Given the description of an element on the screen output the (x, y) to click on. 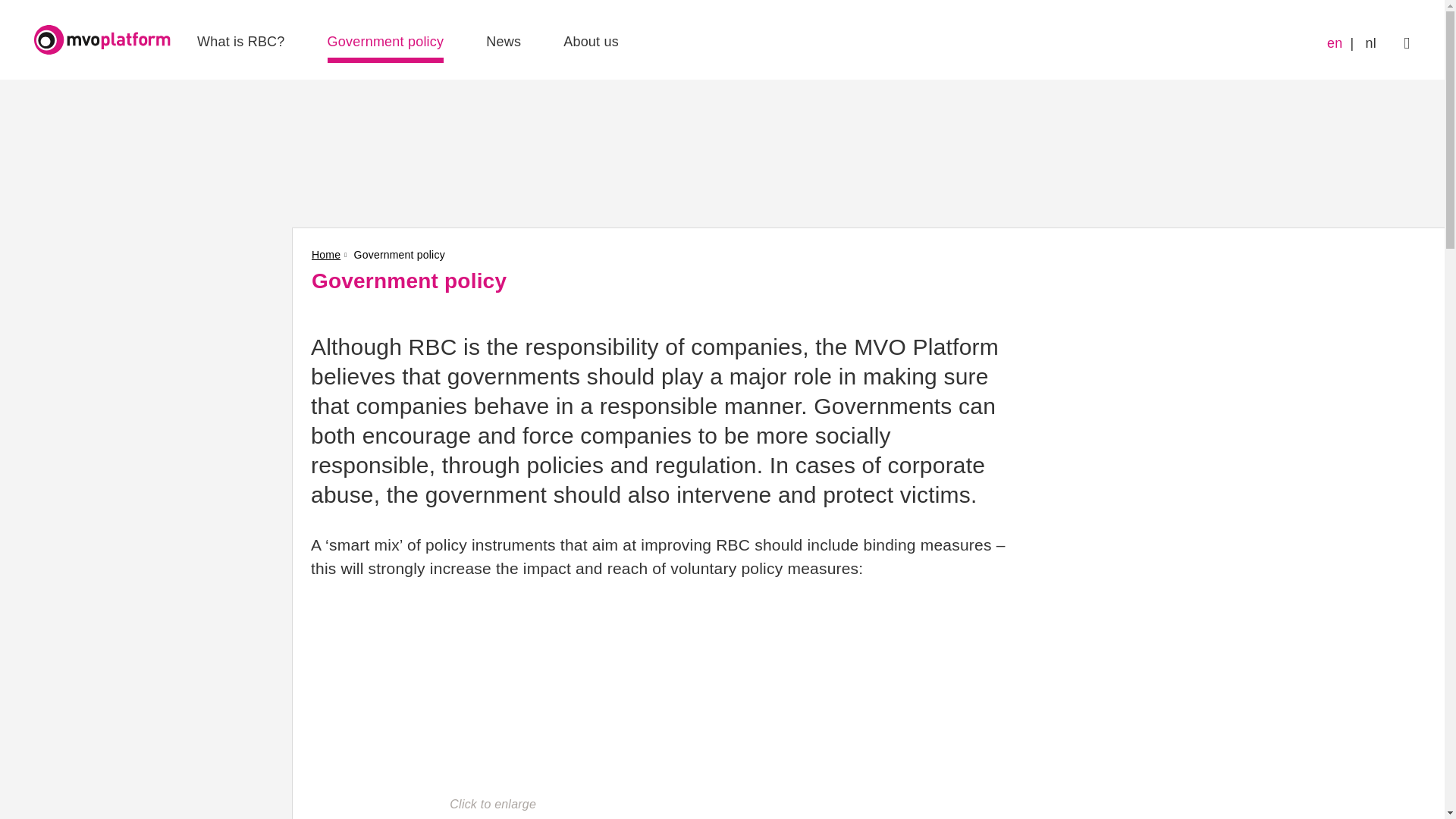
MVO Platform (101, 39)
Zoek (1406, 42)
What is RBC? (240, 42)
About us (590, 42)
Home (330, 254)
Government policy (385, 42)
